Given the description of an element on the screen output the (x, y) to click on. 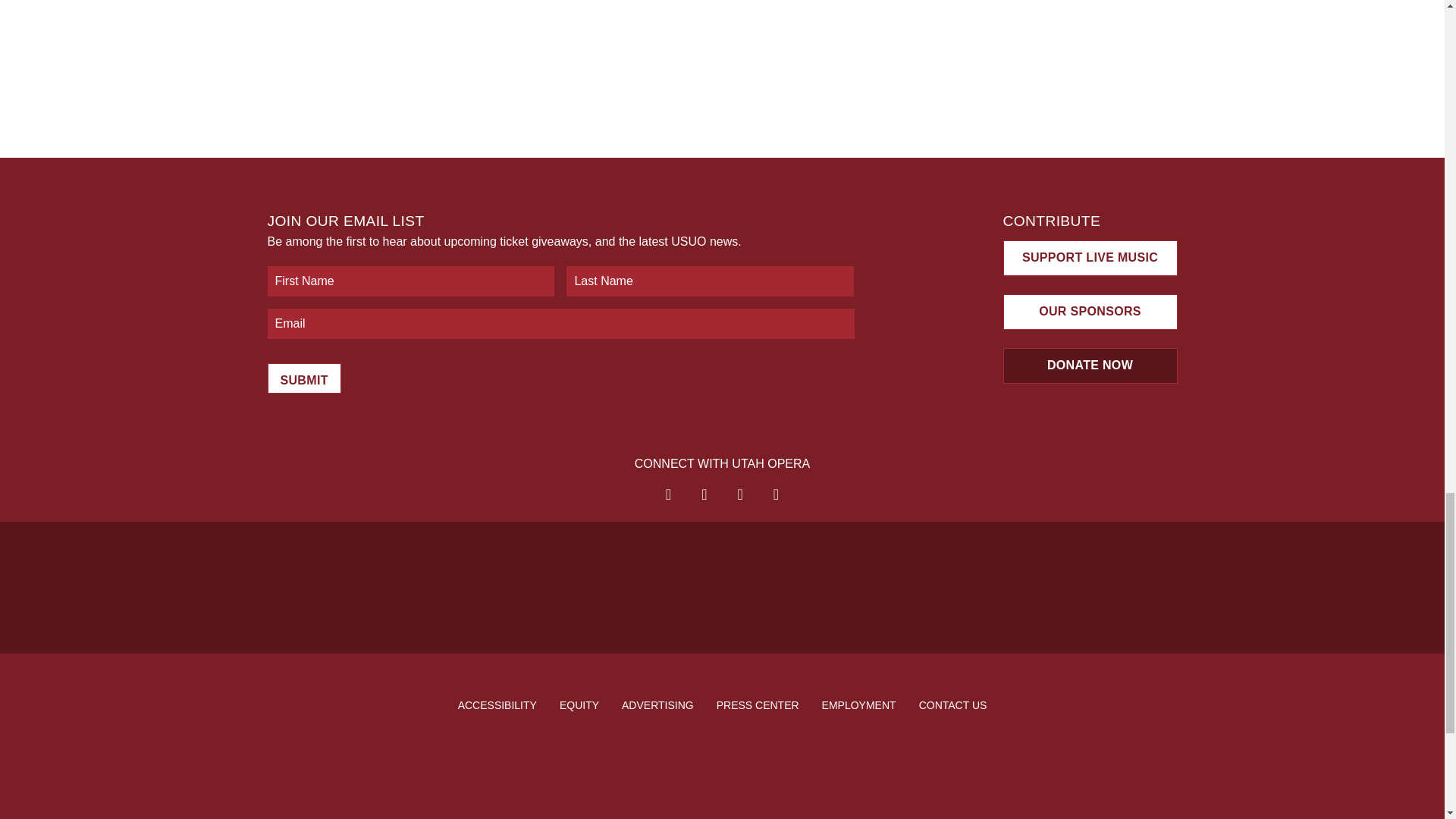
Submit (303, 378)
